Given the description of an element on the screen output the (x, y) to click on. 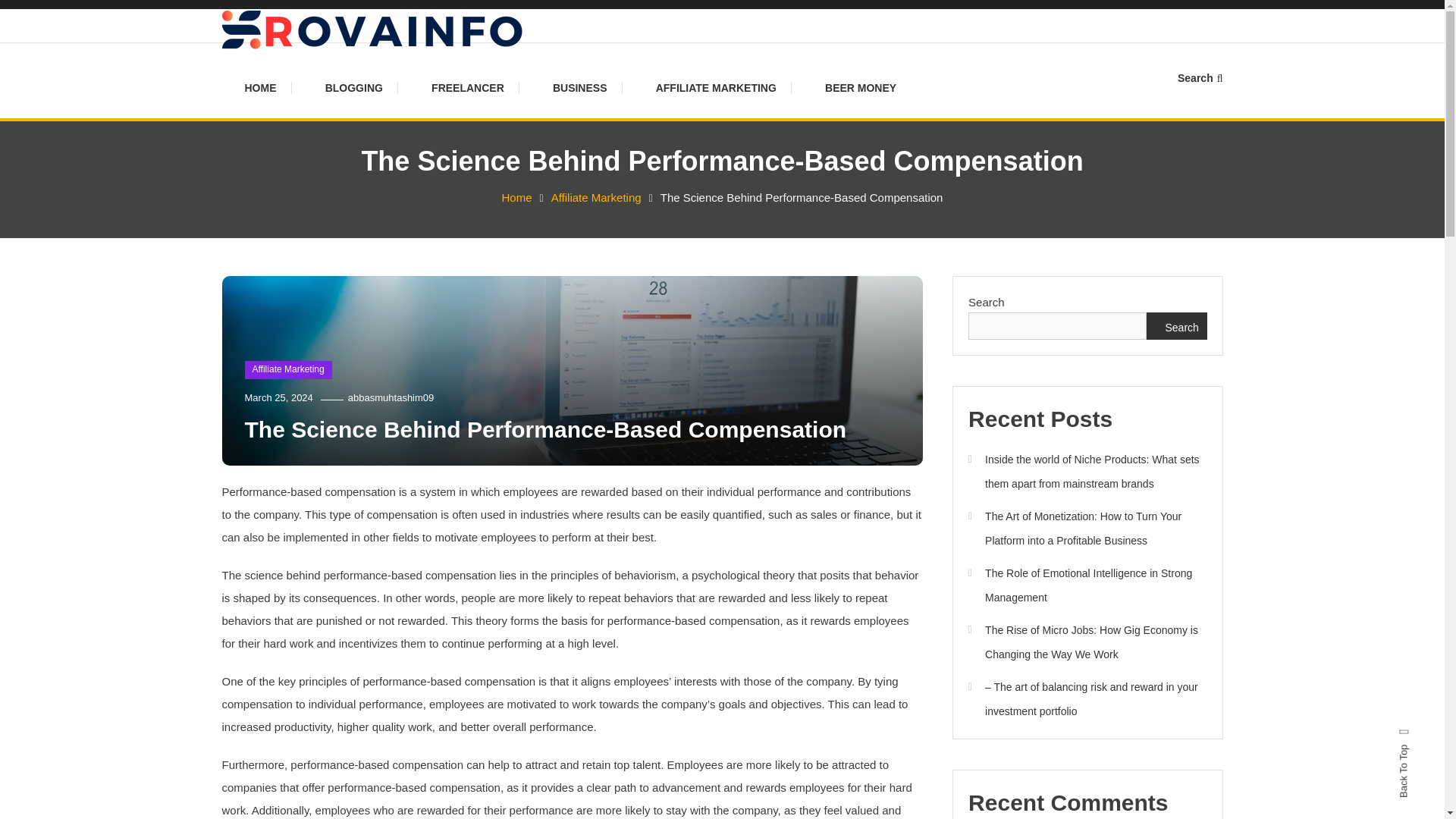
FREELANCER (467, 87)
AFFILIATE MARKETING (716, 87)
Home (517, 196)
BUSINESS (580, 87)
abbasmuhtashim09 (390, 397)
BEER MONEY (860, 87)
Rovainfo (279, 70)
Search (768, 432)
BLOGGING (353, 87)
Affiliate Marketing (596, 196)
HOME (267, 87)
March 25, 2024 (278, 397)
The Science Behind Performance-Based Compensation (544, 429)
Search (1200, 78)
Affiliate Marketing (287, 370)
